Given the description of an element on the screen output the (x, y) to click on. 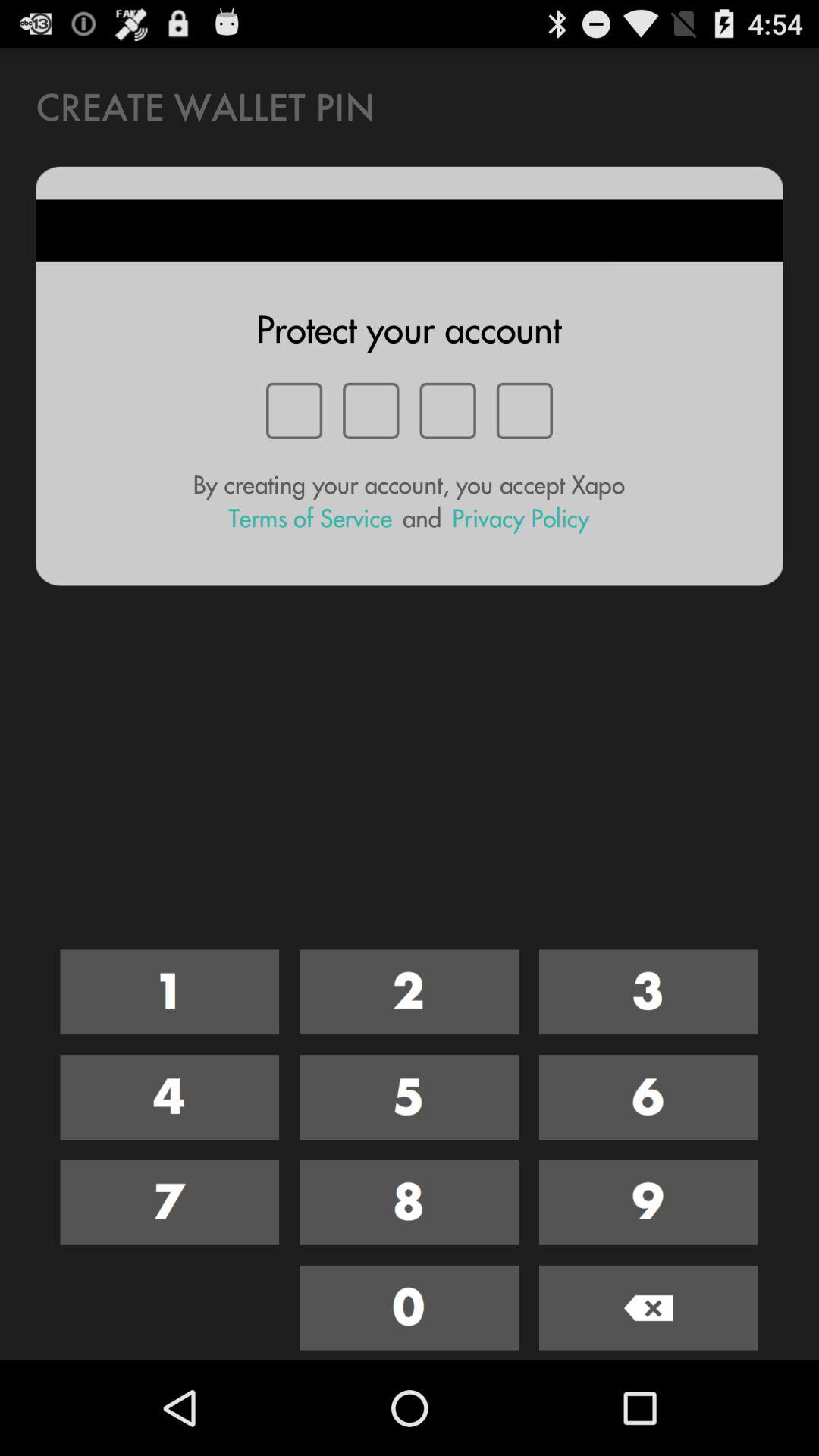
nine (648, 1202)
